Given the description of an element on the screen output the (x, y) to click on. 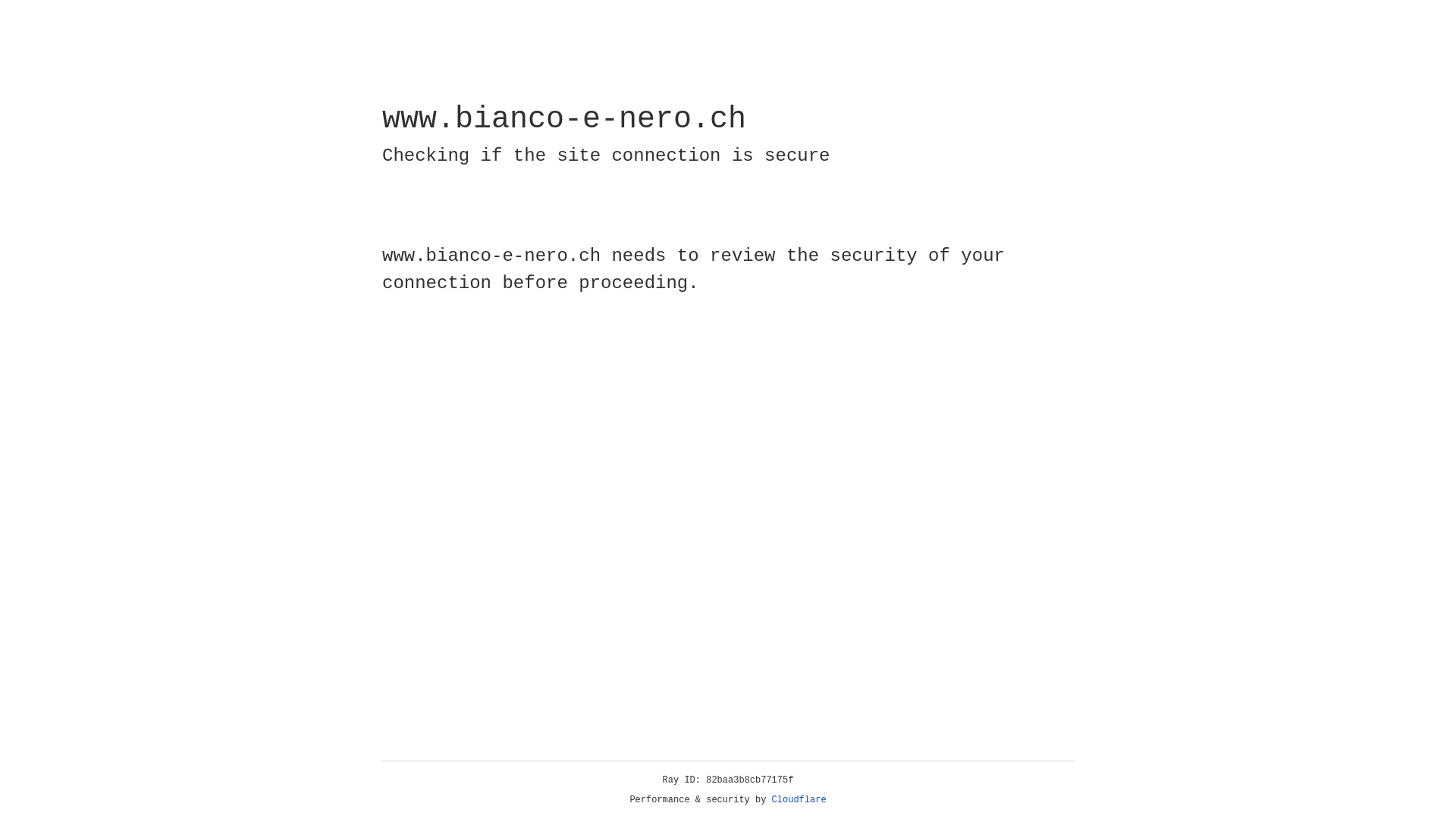
Cloudflare Element type: text (798, 799)
